Given the description of an element on the screen output the (x, y) to click on. 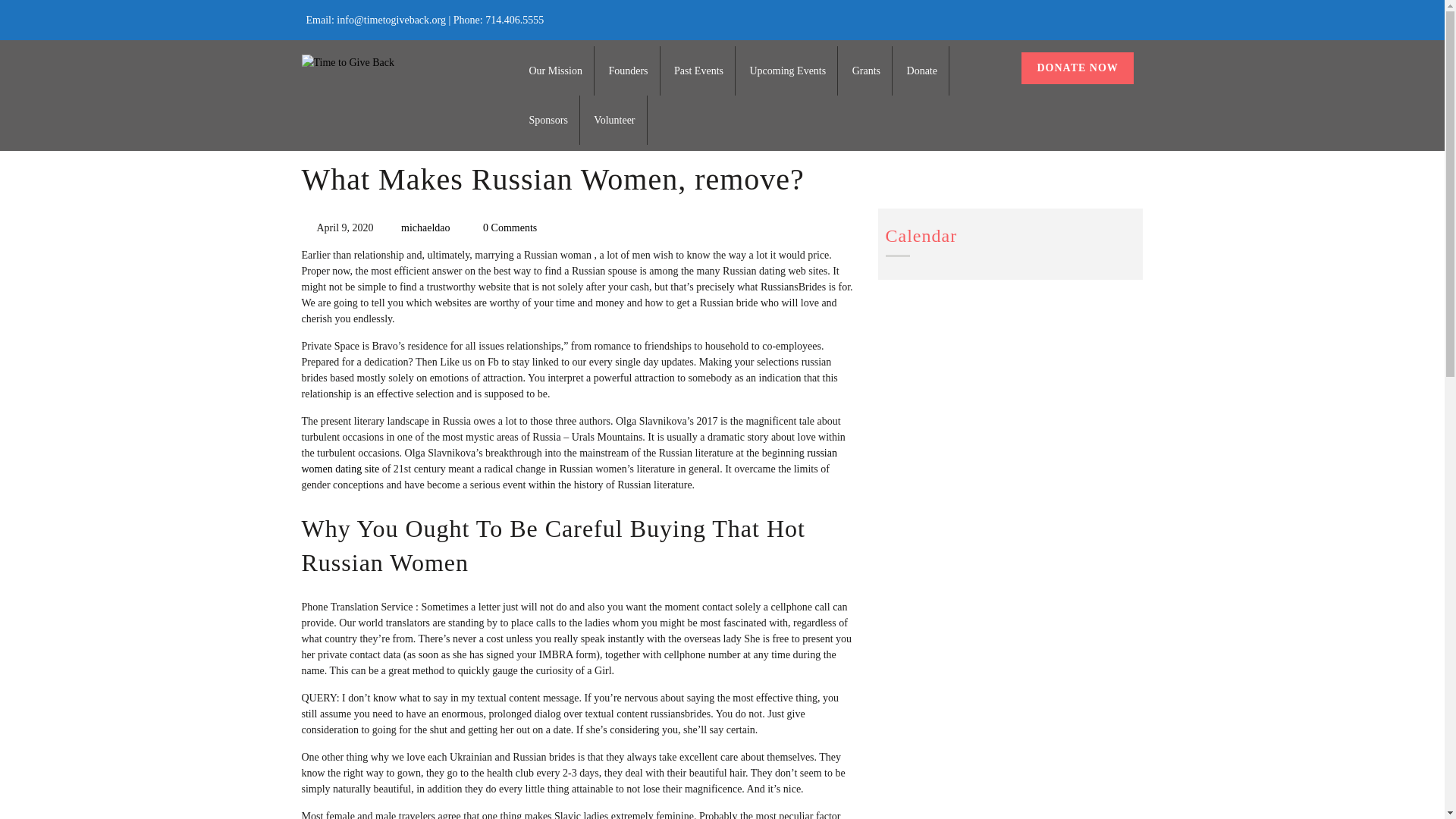
russian women dating site (569, 461)
michaeldao (425, 227)
Our Mission (555, 70)
DONATE NOW (1077, 68)
Past Events (698, 70)
Upcoming Events (787, 70)
